Given the description of an element on the screen output the (x, y) to click on. 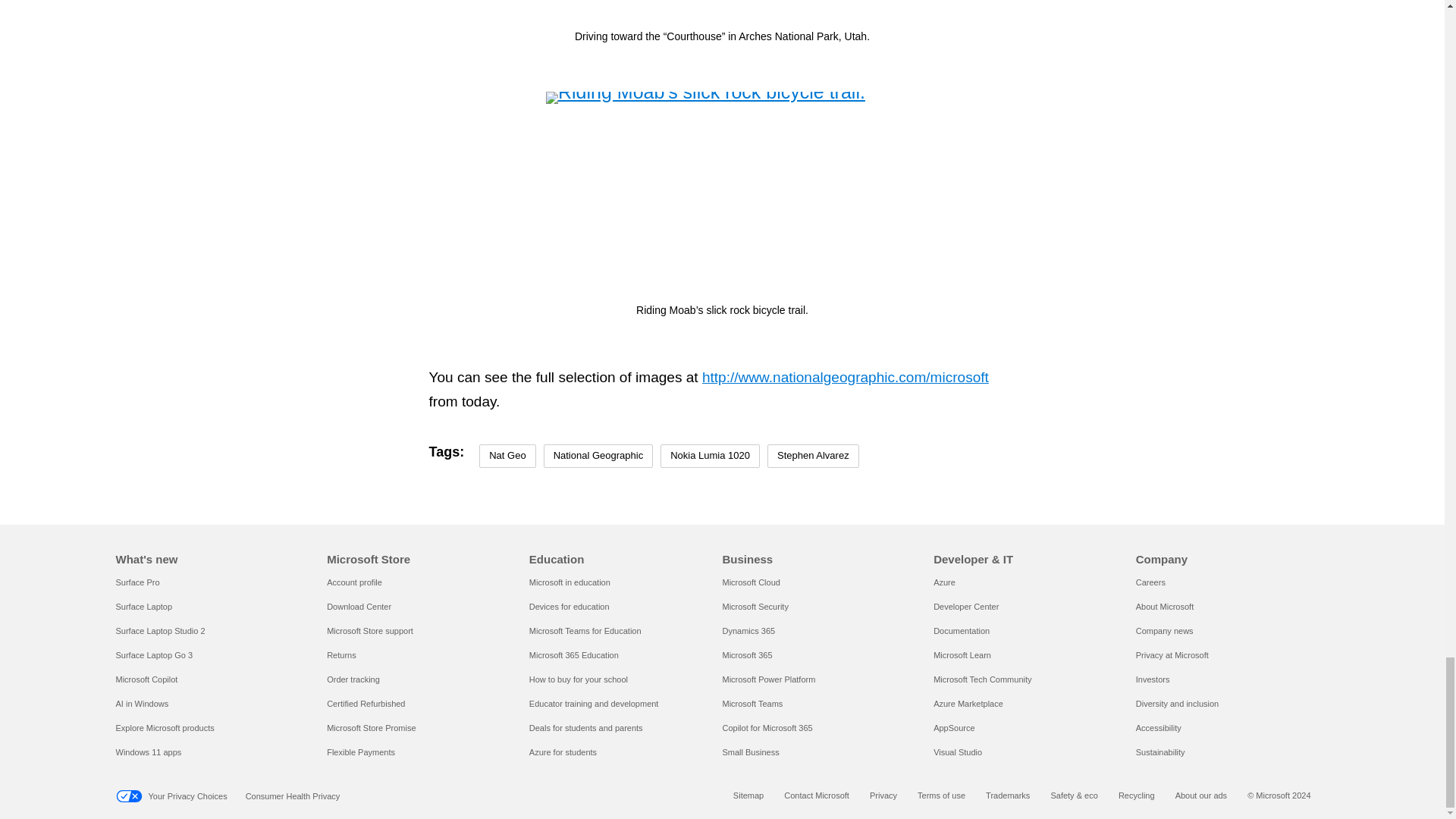
Nat Geo Tag (507, 455)
Stephen Alvarez Tag (813, 455)
National Geographic Tag (598, 455)
Nokia Lumia 1020 Tag (710, 455)
